Given the description of an element on the screen output the (x, y) to click on. 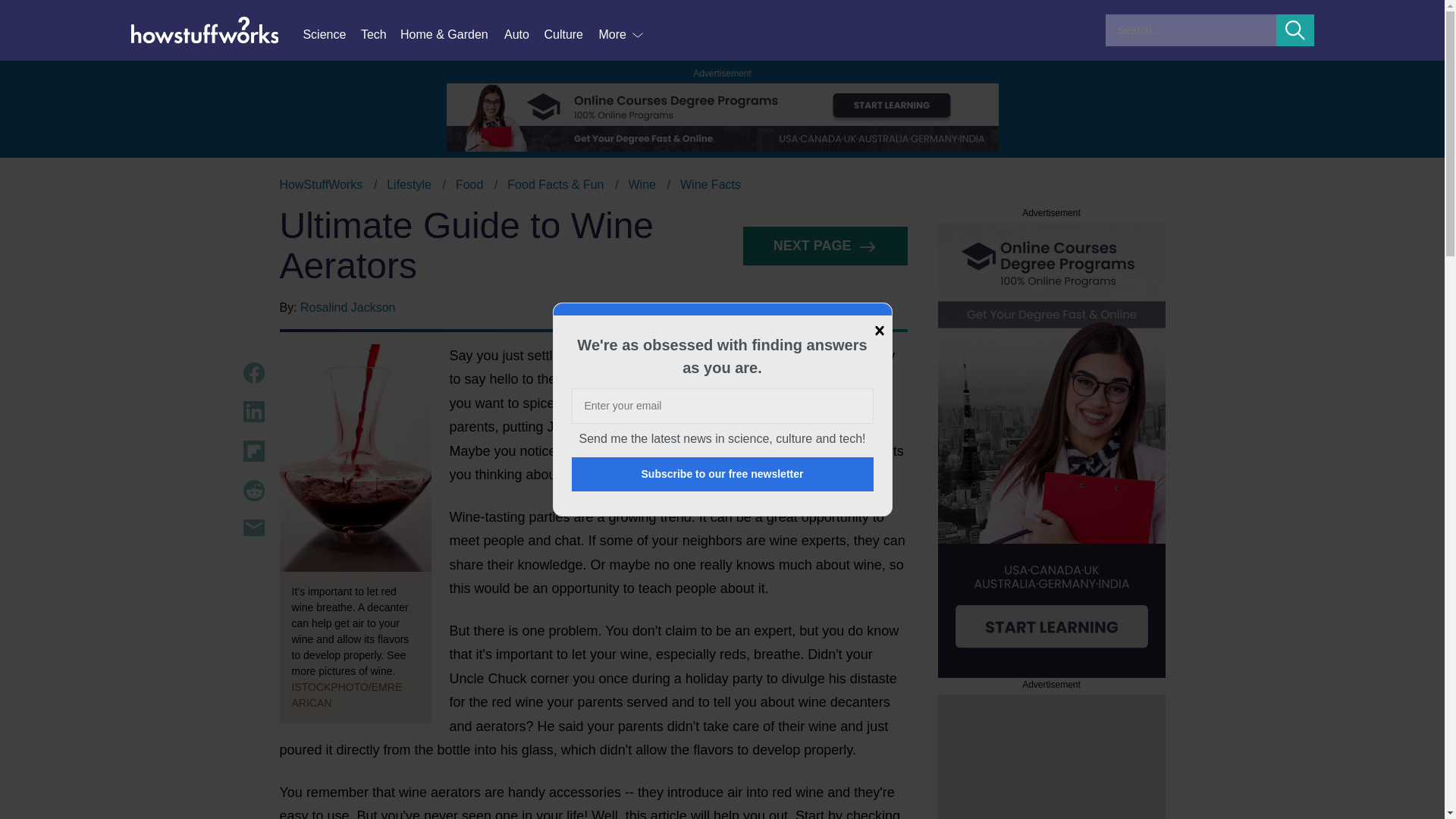
Share Content on Reddit (253, 490)
More (621, 34)
Share Content via Email (253, 527)
HowStuffWorks (320, 184)
Tech (380, 34)
Share Content on LinkedIn (253, 411)
Submit Search (1295, 29)
Share Content on Facebook (253, 372)
Culture (570, 34)
Science (330, 34)
Auto (523, 34)
Lifestyle (408, 184)
Subscribe to our free newsletter (722, 474)
Share Content on Flipboard (253, 450)
